Given the description of an element on the screen output the (x, y) to click on. 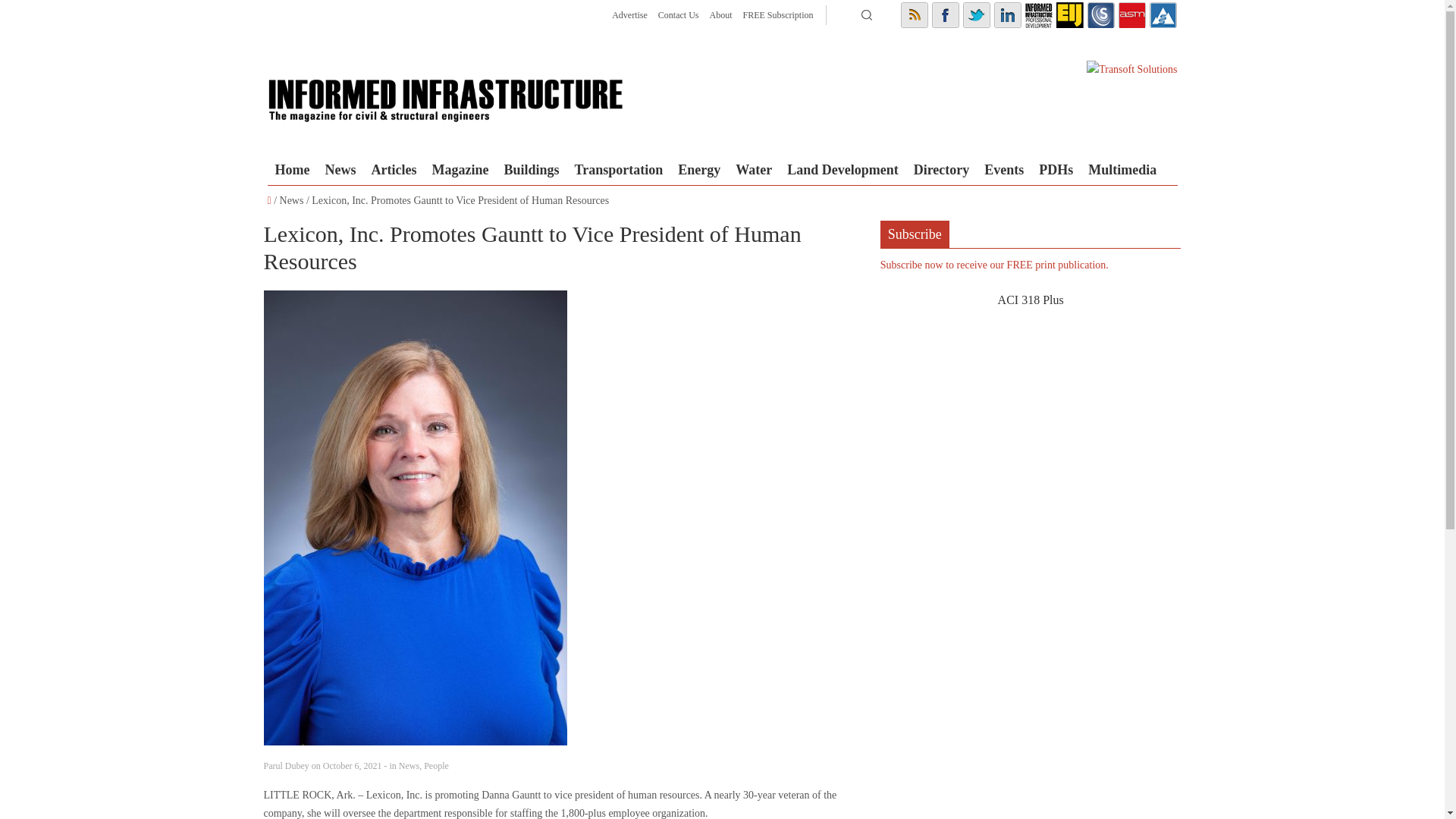
Twitter (976, 14)
Vimeo (1163, 14)
Linkedin (1006, 14)
Earth Imaging Journal (1069, 14)
Advertise (629, 14)
Contact Us (678, 14)
Pinterest (1069, 14)
RSS (914, 14)
Articles (392, 169)
FREE Subscription (777, 14)
